Given the description of an element on the screen output the (x, y) to click on. 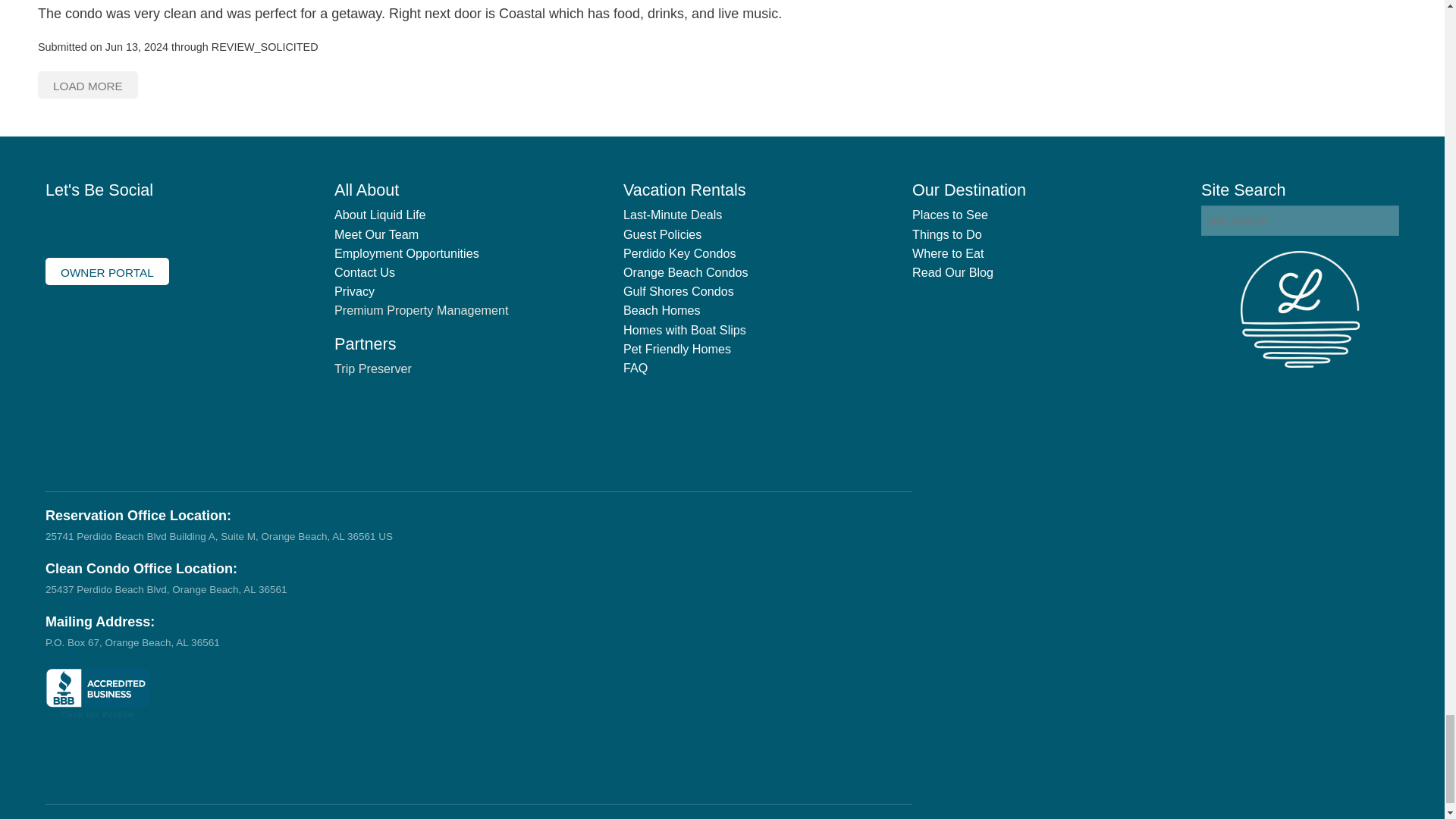
Load More (87, 84)
Load More (87, 84)
